Given the description of an element on the screen output the (x, y) to click on. 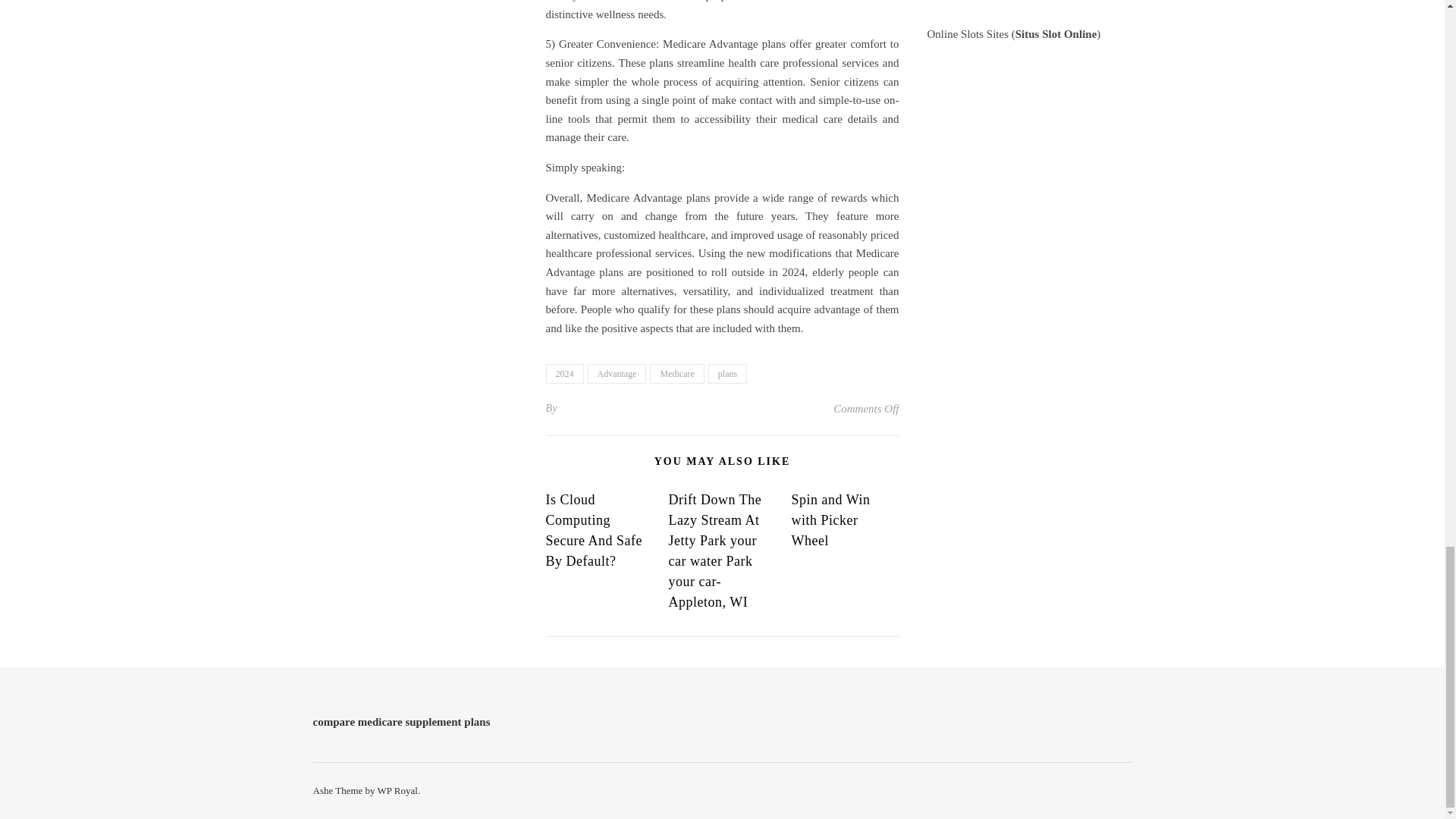
Advantage (616, 373)
Is Cloud Computing Secure And Safe By Default? (594, 530)
Spin and Win with Picker Wheel (829, 519)
plans (726, 373)
Medicare (676, 373)
2024 (564, 373)
